Given the description of an element on the screen output the (x, y) to click on. 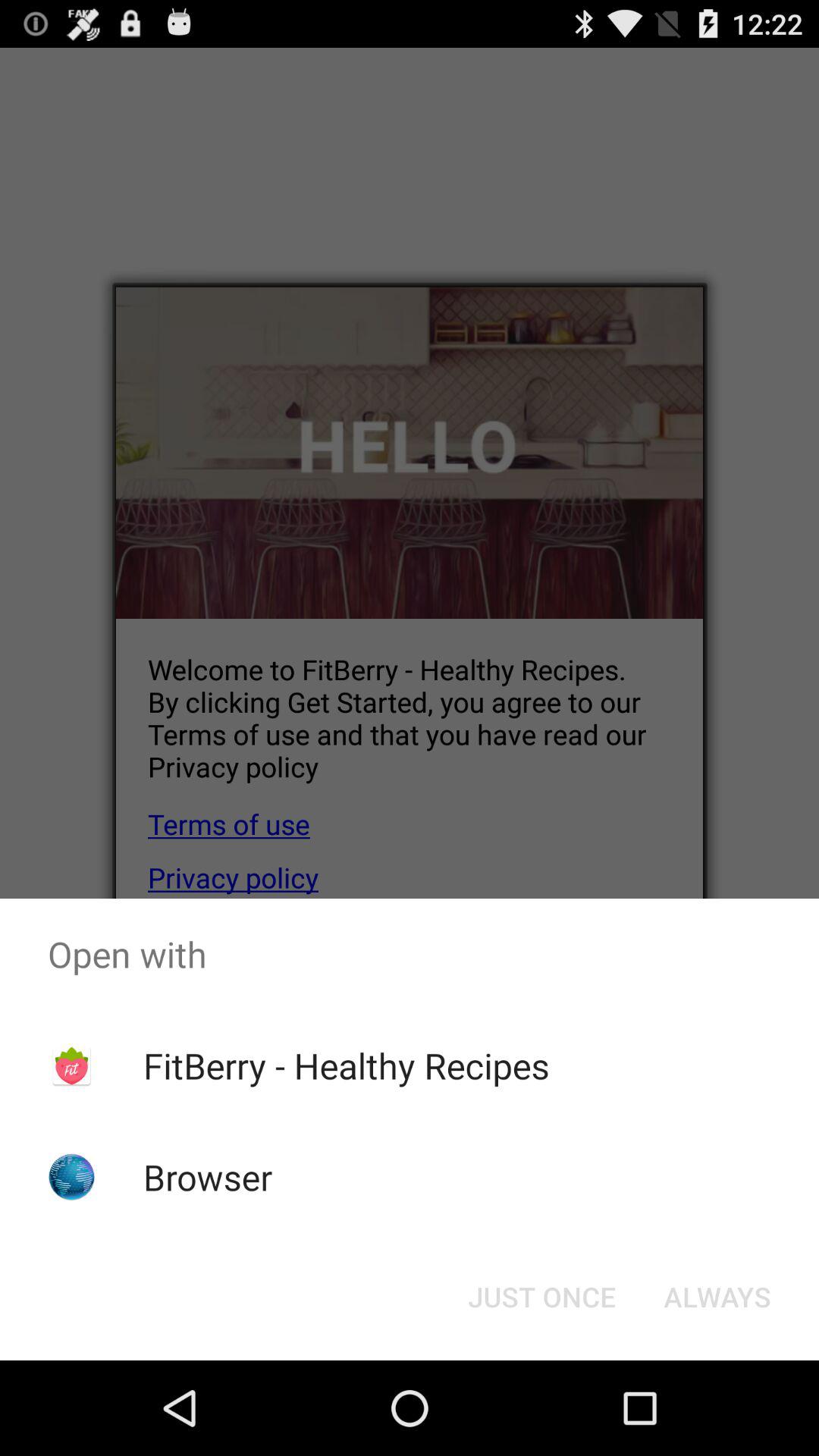
launch button next to the just once (717, 1296)
